Given the description of an element on the screen output the (x, y) to click on. 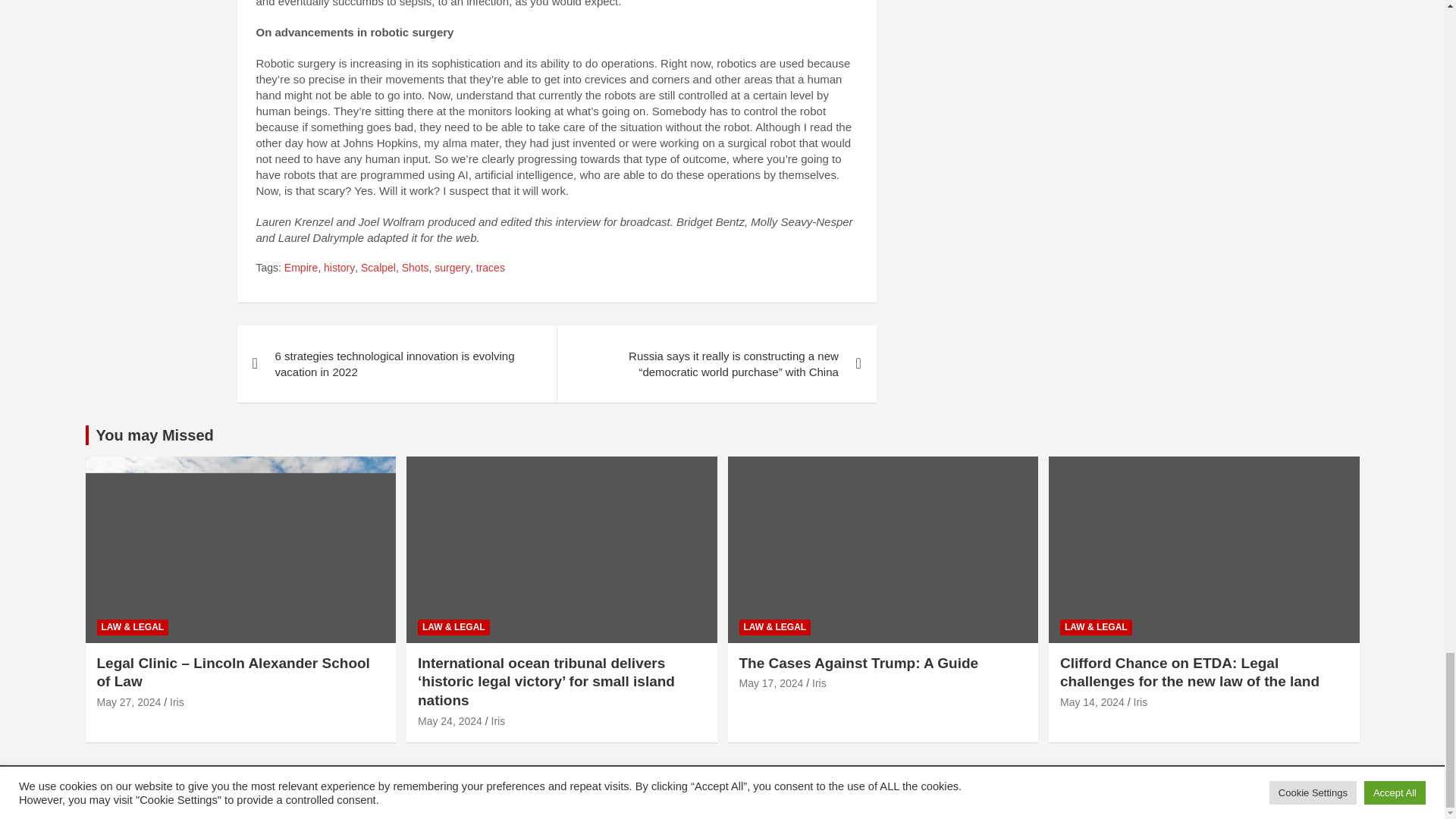
traces (490, 268)
Iris (498, 720)
history (339, 268)
surgery (451, 268)
Iris (177, 702)
WordPress (545, 791)
Shots (415, 268)
The Cases Against Trump: A Guide (770, 683)
